Given the description of an element on the screen output the (x, y) to click on. 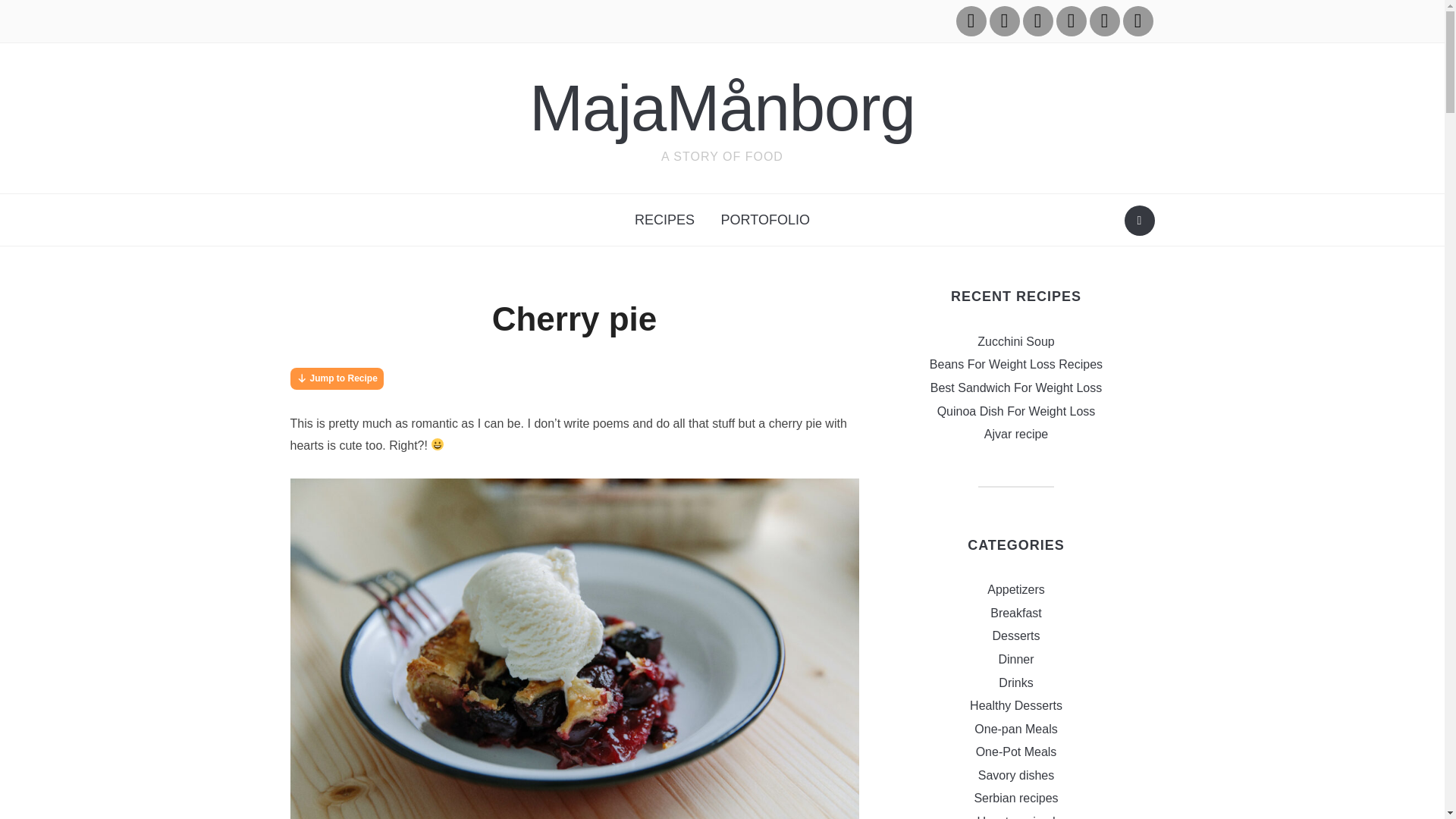
PORTOFOLIO (765, 220)
Instagram Food (1037, 20)
Search (1139, 220)
Instagram Main (970, 20)
Email (1104, 20)
Newsletter (1137, 20)
A Story of Food (722, 108)
Facebook (1070, 20)
YouTube (1003, 20)
Jump to Recipe (335, 378)
RECIPES (664, 220)
